Given the description of an element on the screen output the (x, y) to click on. 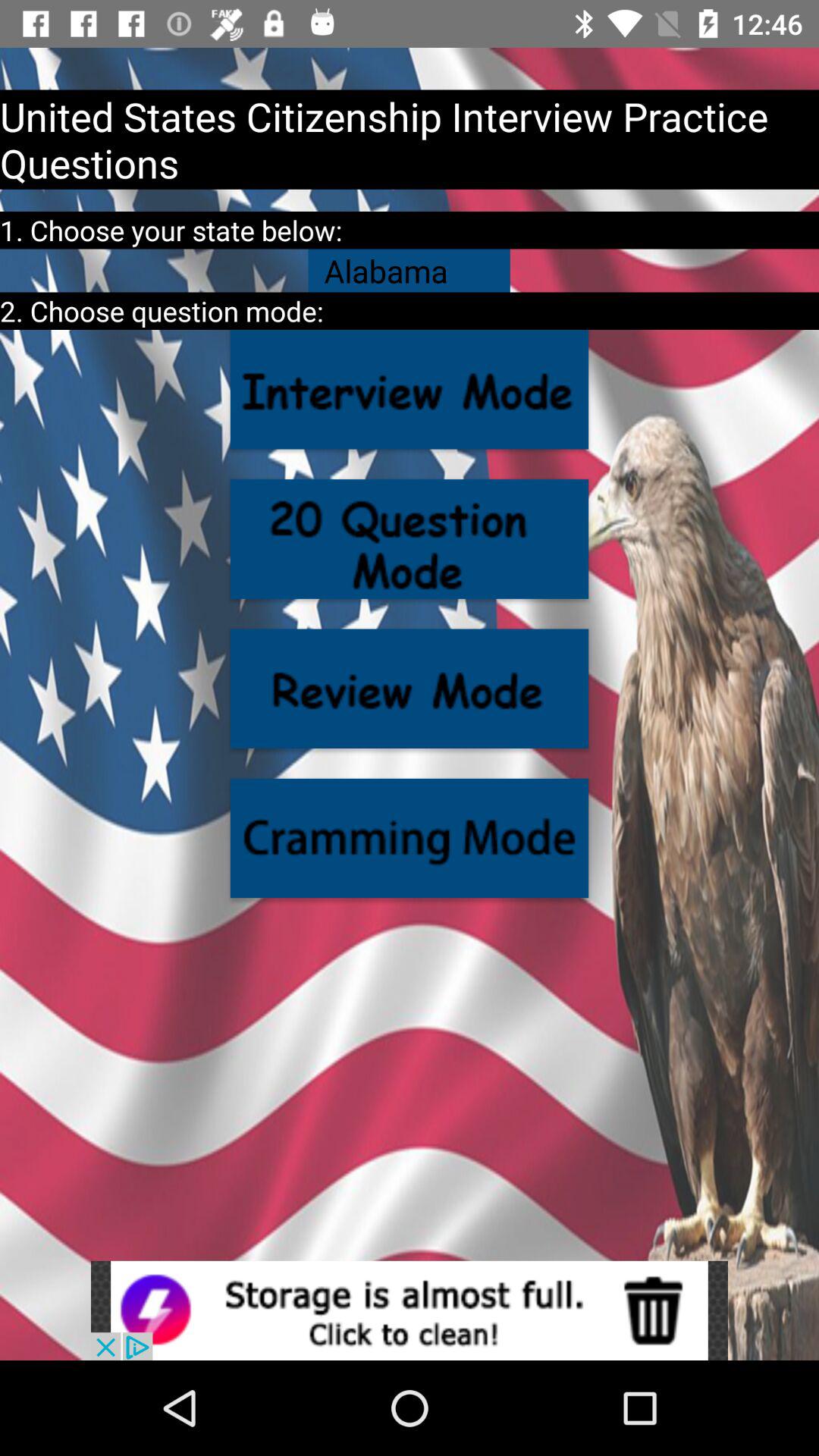
review mode option (409, 688)
